Given the description of an element on the screen output the (x, y) to click on. 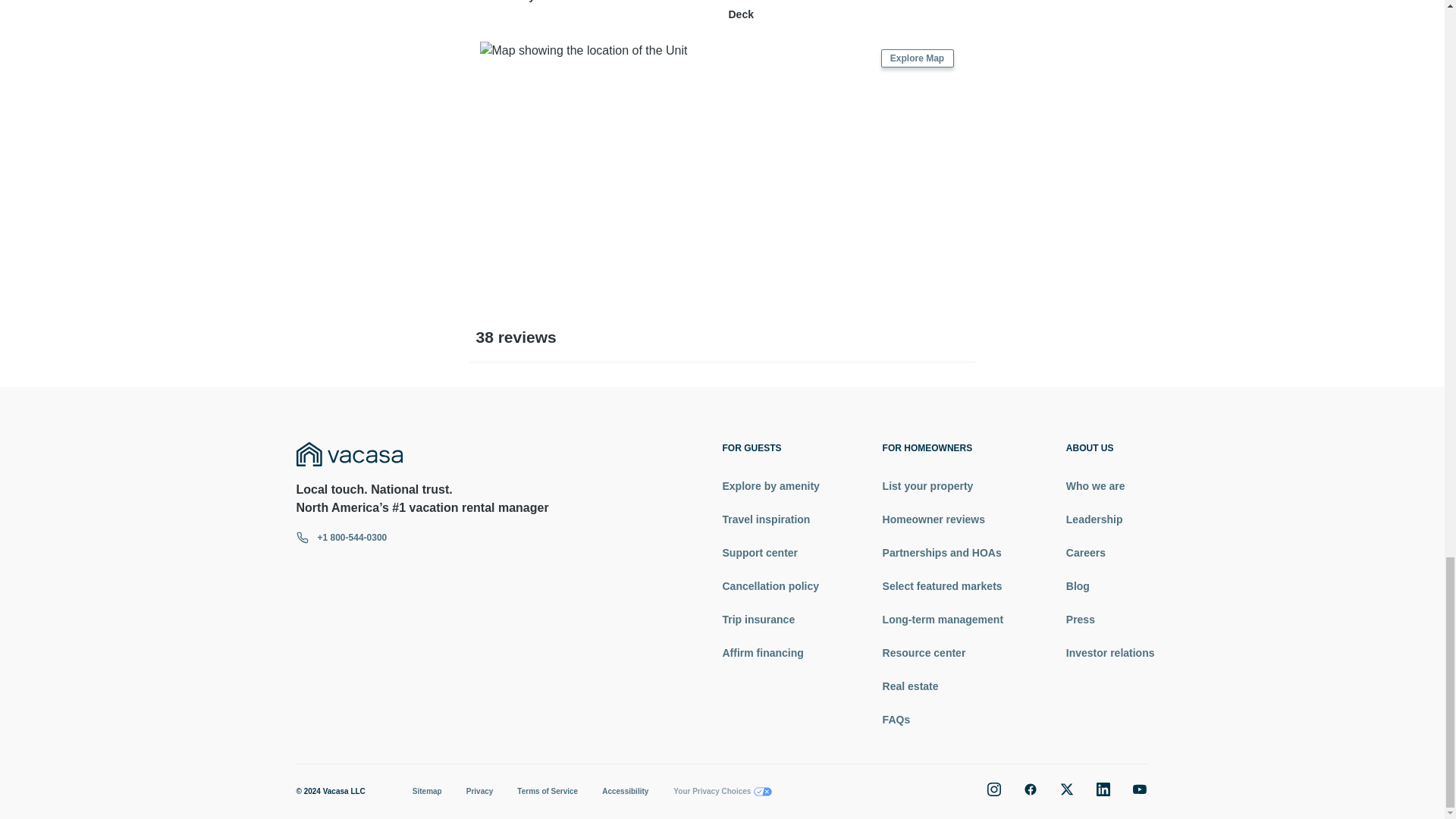
Trip insurance (770, 619)
Travel inspiration (770, 519)
Affirm financing (770, 652)
List your property (942, 485)
Explore Map (916, 58)
Support center (770, 552)
Cancellation policy (770, 585)
Partnerships and HOAs (942, 552)
Homeowner reviews (942, 519)
Explore by amenity (770, 485)
Select featured markets (942, 585)
